Given the description of an element on the screen output the (x, y) to click on. 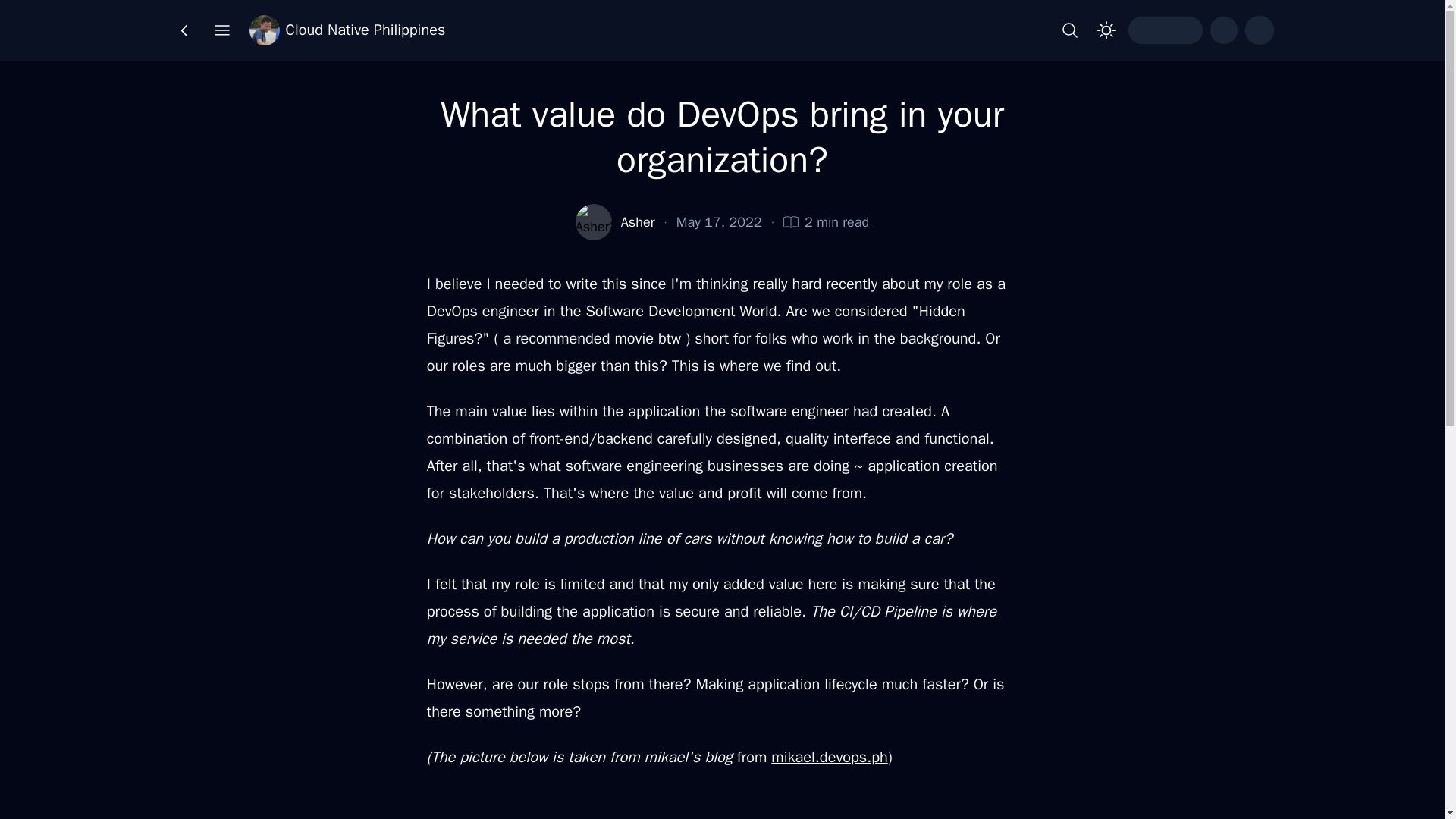
Asher (638, 221)
May 17, 2022 (719, 221)
mikael.devops.ph (828, 756)
Cloud Native Philippines (346, 30)
